Given the description of an element on the screen output the (x, y) to click on. 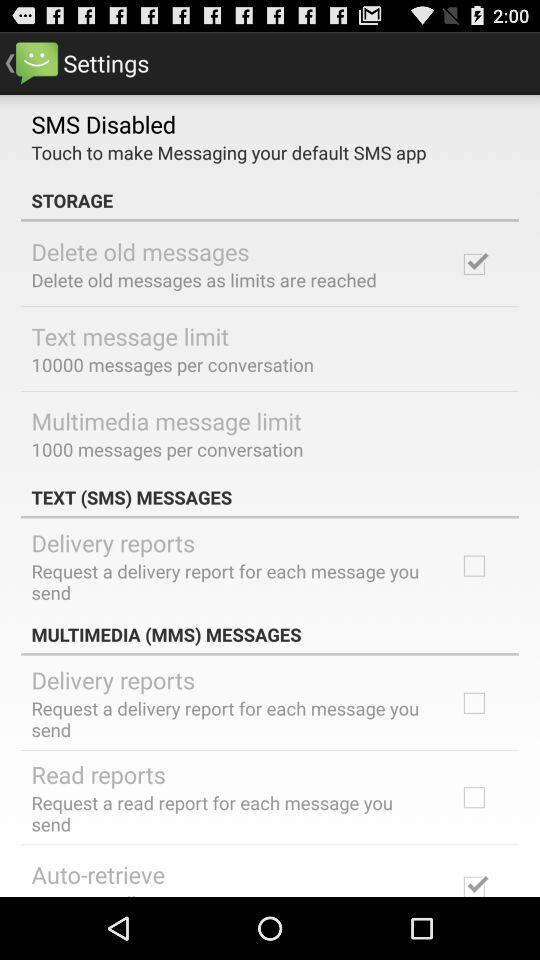
press multimedia (mms) messages (270, 634)
